Given the description of an element on the screen output the (x, y) to click on. 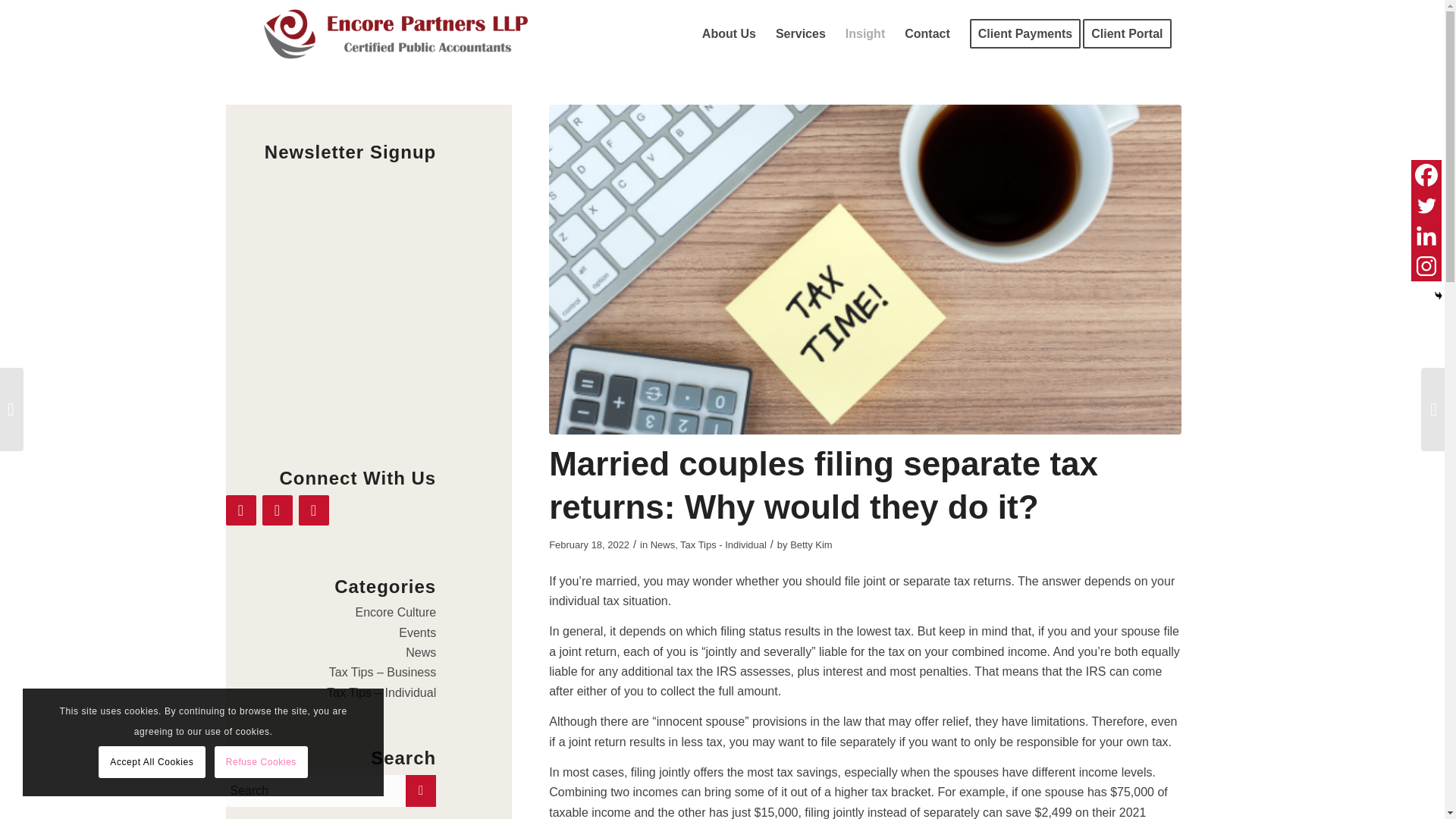
Events (416, 632)
News (420, 652)
Facebook (1425, 174)
Insight (865, 33)
Encore Culture (395, 612)
Client Portal (1131, 33)
Tax Tips - Individual (723, 544)
Contact (927, 33)
Linkedin (1425, 235)
Services (800, 33)
Client Payments (1024, 33)
Posts by Betty Kim (810, 544)
About Us (729, 33)
Twitter (1425, 205)
